Given the description of an element on the screen output the (x, y) to click on. 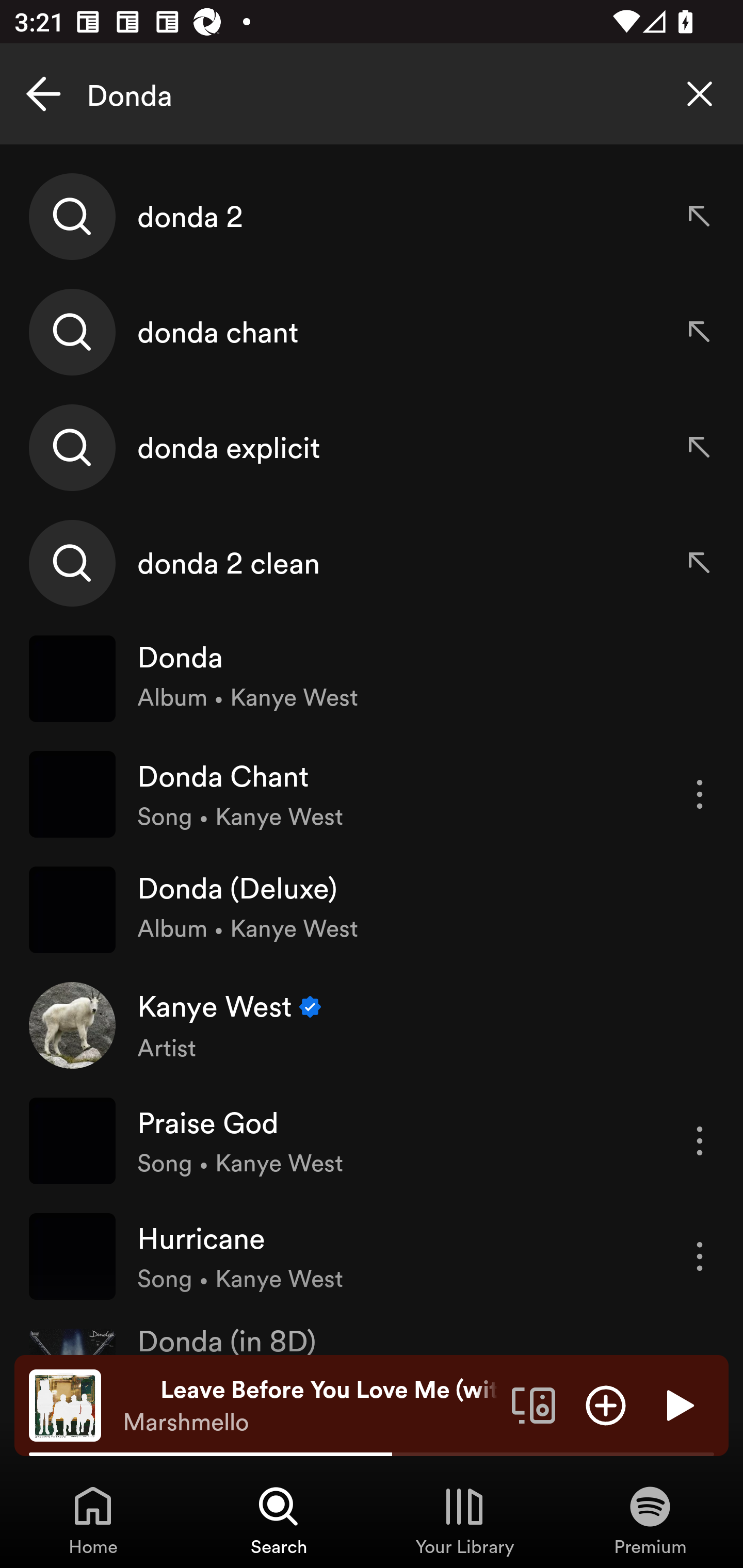
Donda (371, 93)
Cancel (43, 93)
Clear search query (699, 93)
donda 2 (371, 216)
donda chant (371, 332)
donda explicit (371, 447)
donda 2 clean (371, 562)
Donda Album • Kanye West (371, 678)
More options for song Donda Chant (699, 794)
Donda (Deluxe) Album • Kanye West (371, 909)
Kanye West Verified Artist (371, 1025)
More options for song Praise God (699, 1140)
More options for song Hurricane (699, 1256)
